Given the description of an element on the screen output the (x, y) to click on. 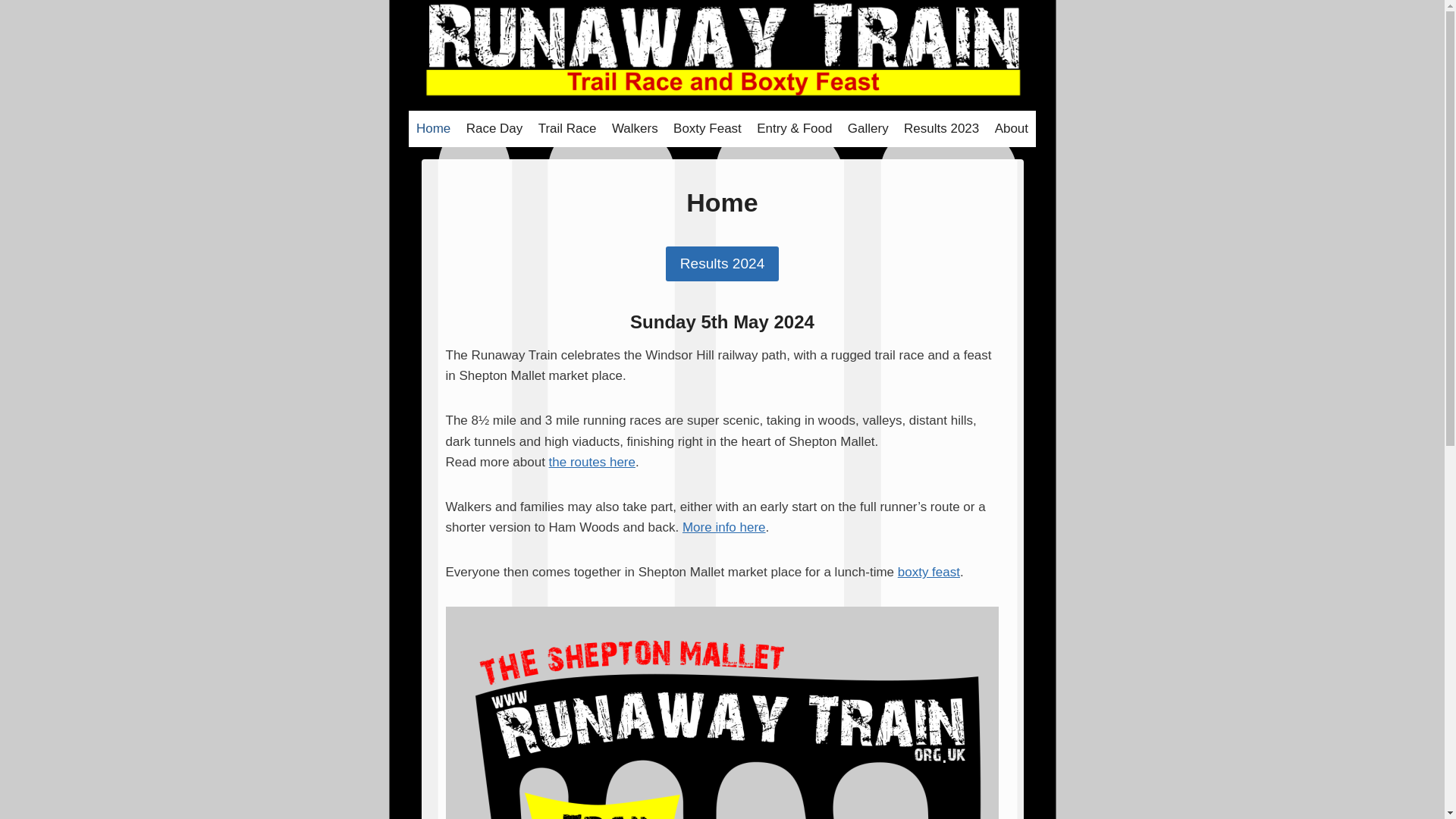
About (1011, 128)
Gallery (868, 128)
Results 2023 (941, 128)
Trail Race (567, 128)
Results 2024 (721, 263)
Boxty Feast (707, 128)
the routes here (591, 462)
boxty feast (928, 572)
Race Day (493, 128)
Walkers (634, 128)
More info here (723, 527)
Home (433, 128)
